Given the description of an element on the screen output the (x, y) to click on. 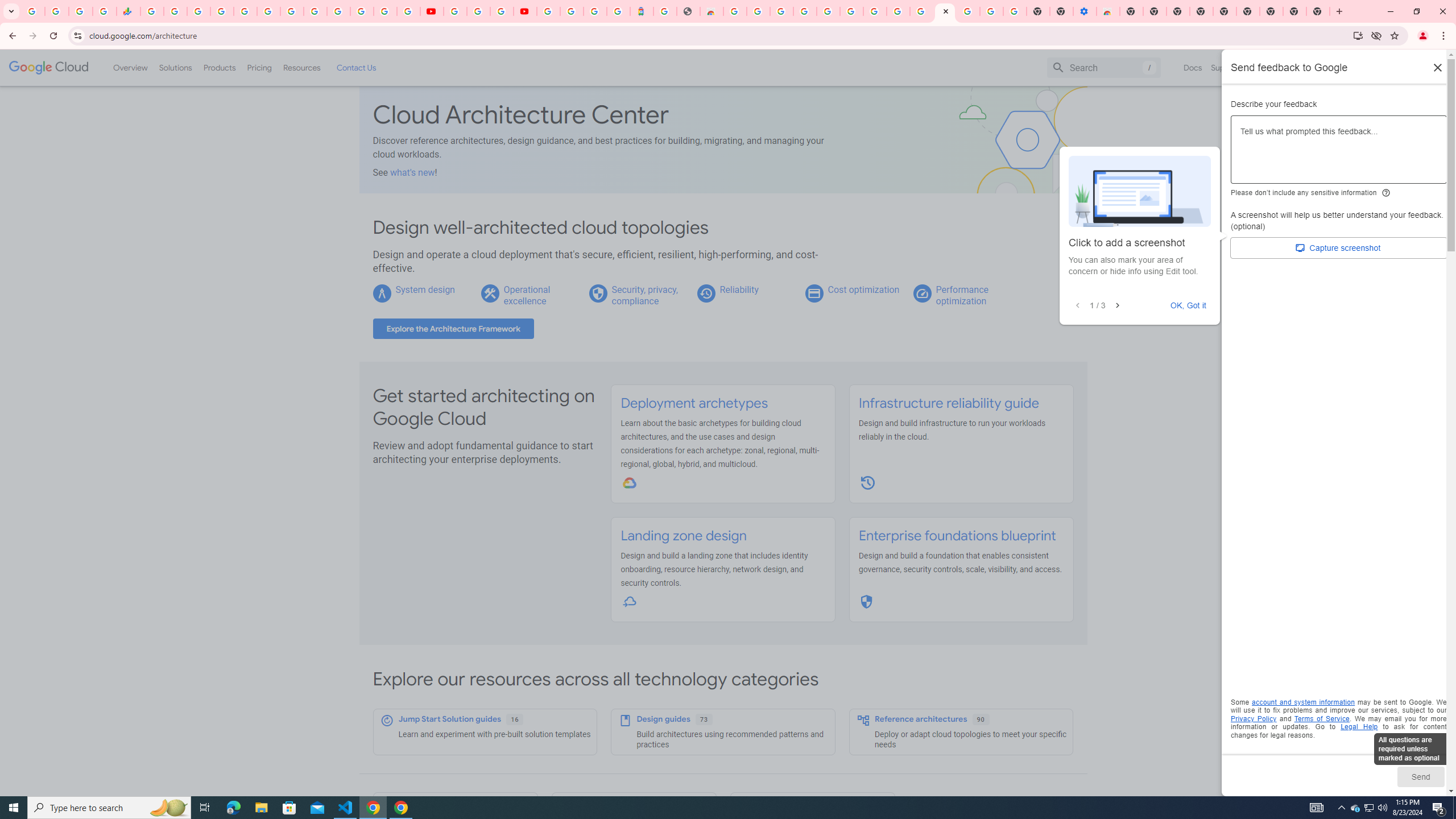
Deployment archetypes (694, 402)
Previous (1078, 305)
Atour Hotel - Google hotels (641, 11)
New Tab (1131, 11)
English (1288, 67)
Create your Google Account (897, 11)
Google Account Help (992, 11)
